Given the description of an element on the screen output the (x, y) to click on. 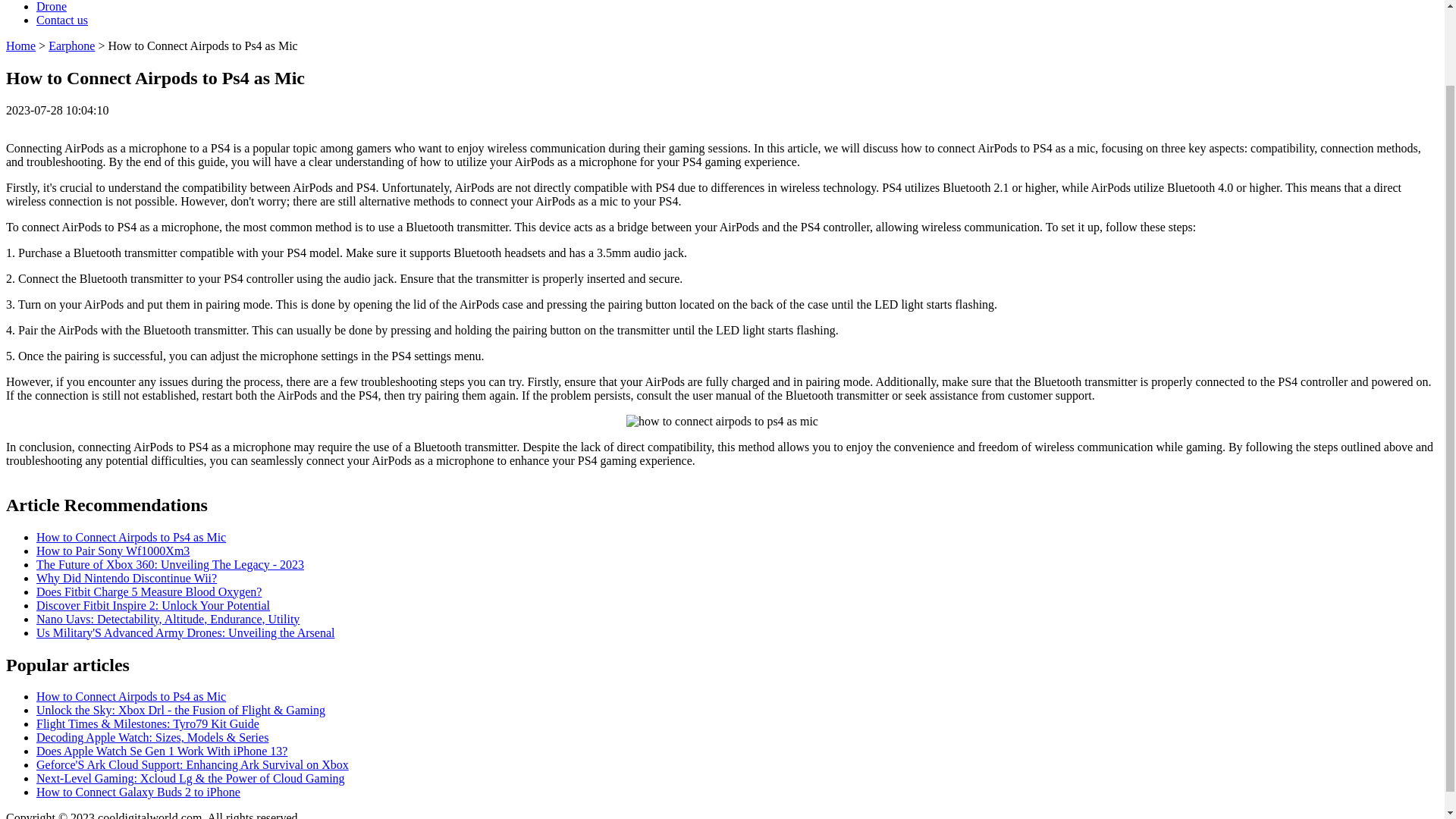
How to Connect Airpods to Ps4 as Mic (130, 696)
Nano Uavs: Detectability, Altitude, Endurance, Utility (167, 618)
The Future of Xbox 360: Unveiling The Legacy - 2023 (170, 563)
Does Fitbit Charge 5 Measure Blood Oxygen? (149, 591)
Discover Fitbit Inspire 2: Unlock Your Potential (152, 604)
Does Apple Watch Se Gen 1 Work With iPhone 13? (161, 750)
Nano Uavs: Detectability, Altitude, Endurance, Utility (167, 618)
How to Connect Airpods to Ps4 as Mic (130, 696)
Drone (51, 6)
The Future of Xbox 360: Unveiling The Legacy - 2023 (170, 563)
Why Did Nintendo Discontinue Wii?  (126, 577)
How to Connect Airpods to Ps4 as Mic (130, 536)
How to Connect Galaxy Buds 2 to iPhone (138, 791)
Us Military'S Advanced Army Drones: Unveiling the Arsenal (185, 632)
Us Military'S Advanced Army Drones: Unveiling the Arsenal (185, 632)
